Given the description of an element on the screen output the (x, y) to click on. 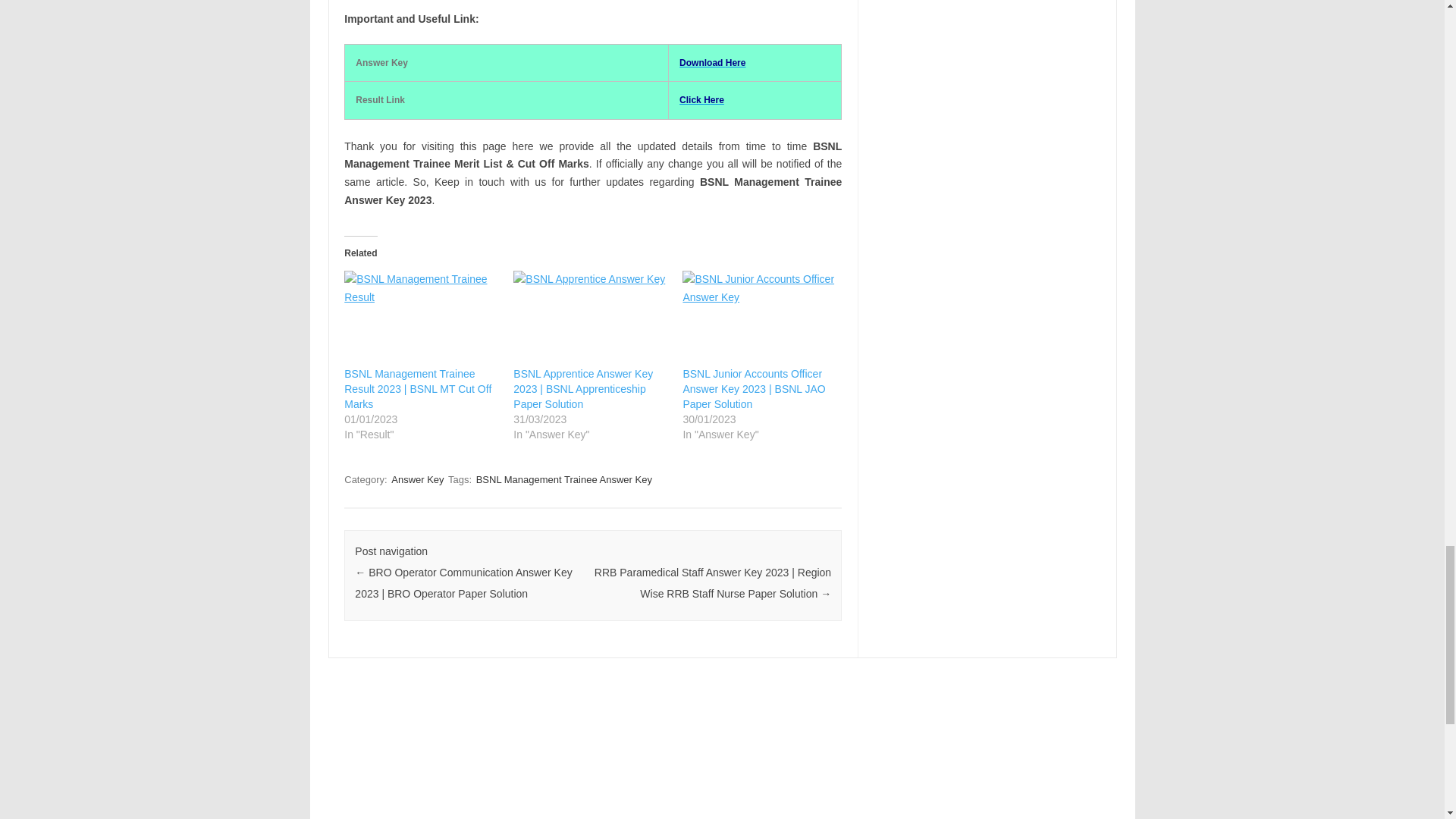
Click Here (701, 100)
Download Here (712, 62)
Answer Key (417, 479)
BSNL Management Trainee Answer Key (563, 479)
